Given the description of an element on the screen output the (x, y) to click on. 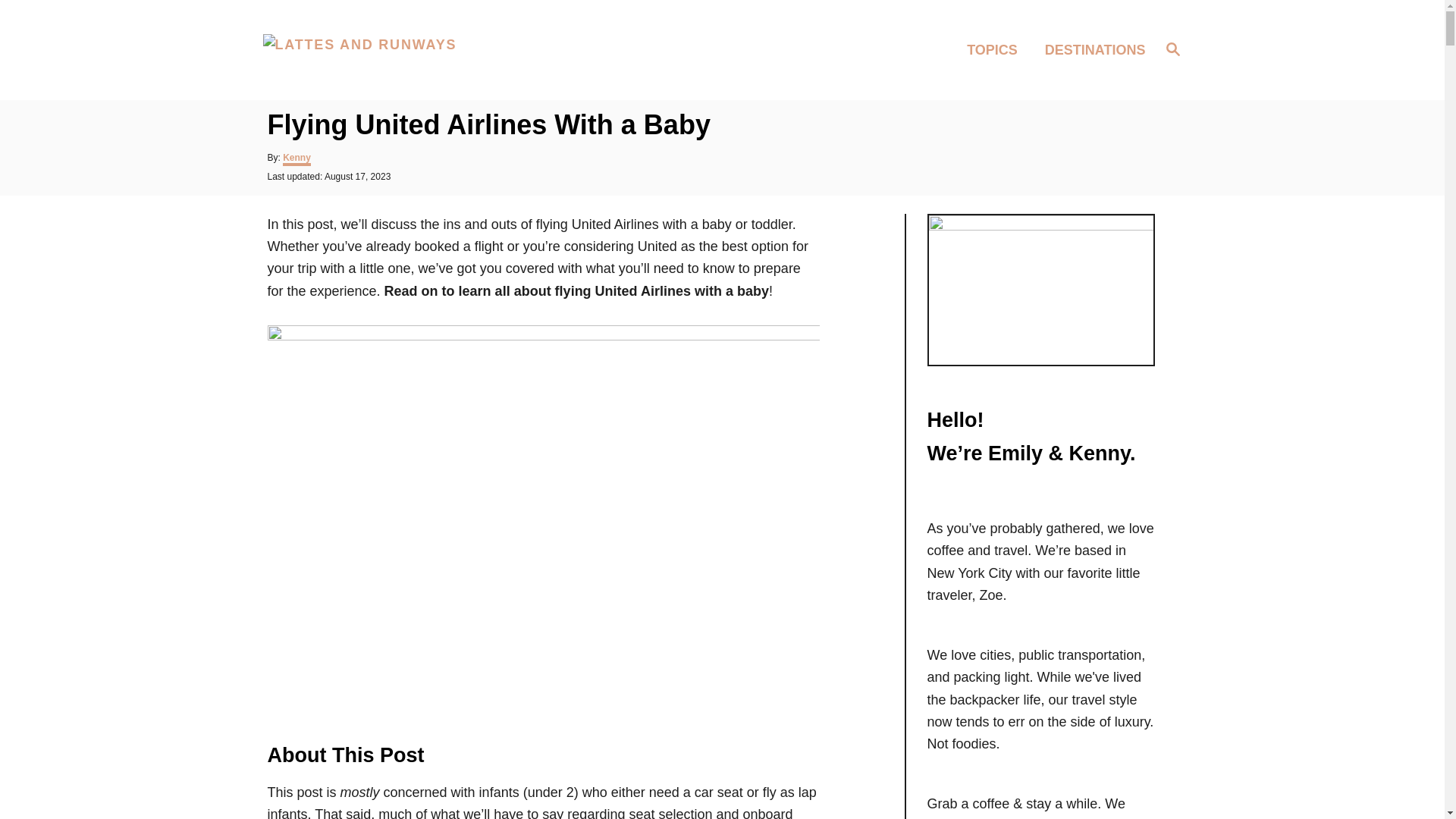
TOPICS (996, 49)
Lattes and Runways (371, 50)
Magnifying Glass (1171, 48)
